Given the description of an element on the screen output the (x, y) to click on. 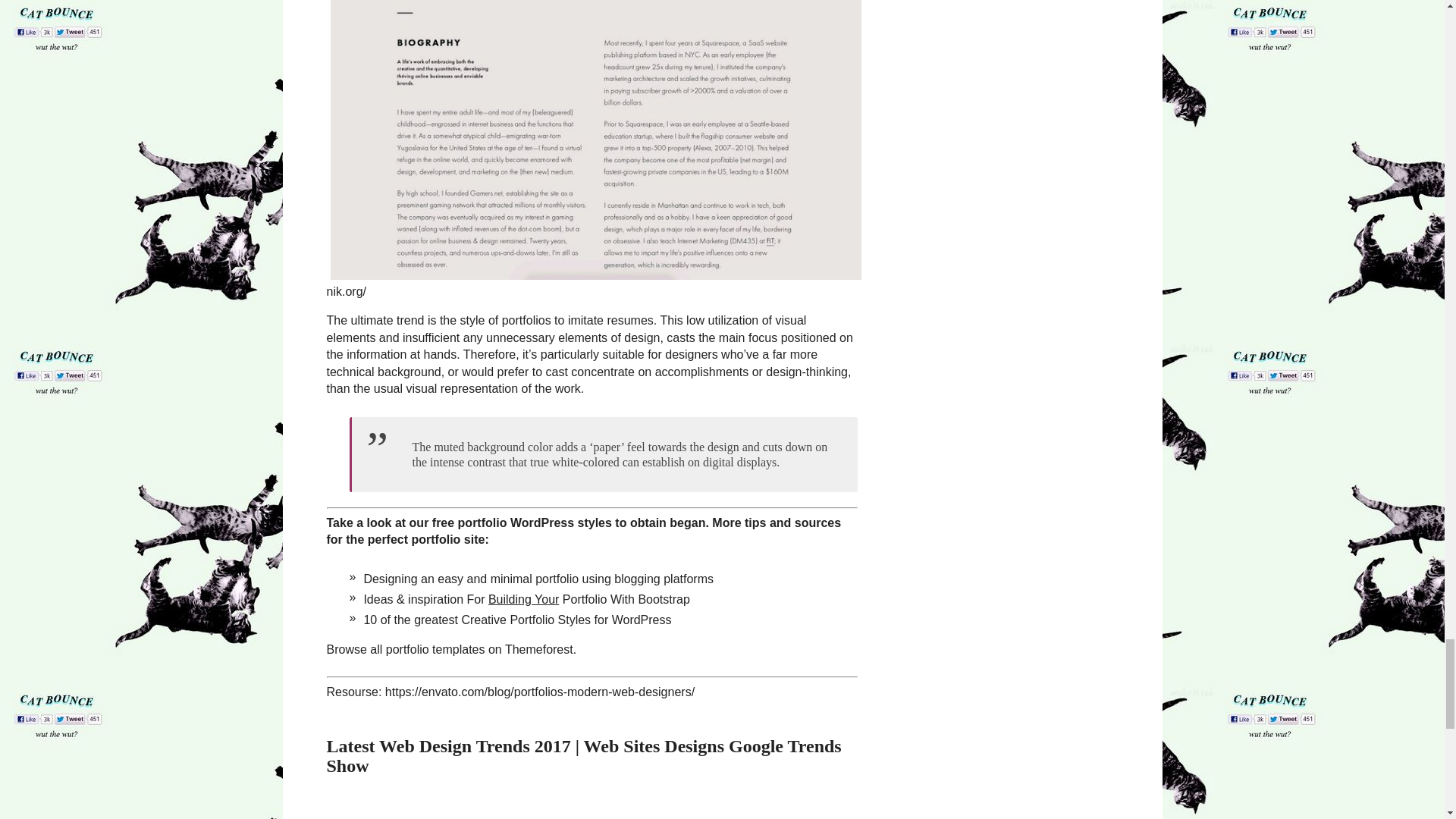
Building Your (523, 599)
